Given the description of an element on the screen output the (x, y) to click on. 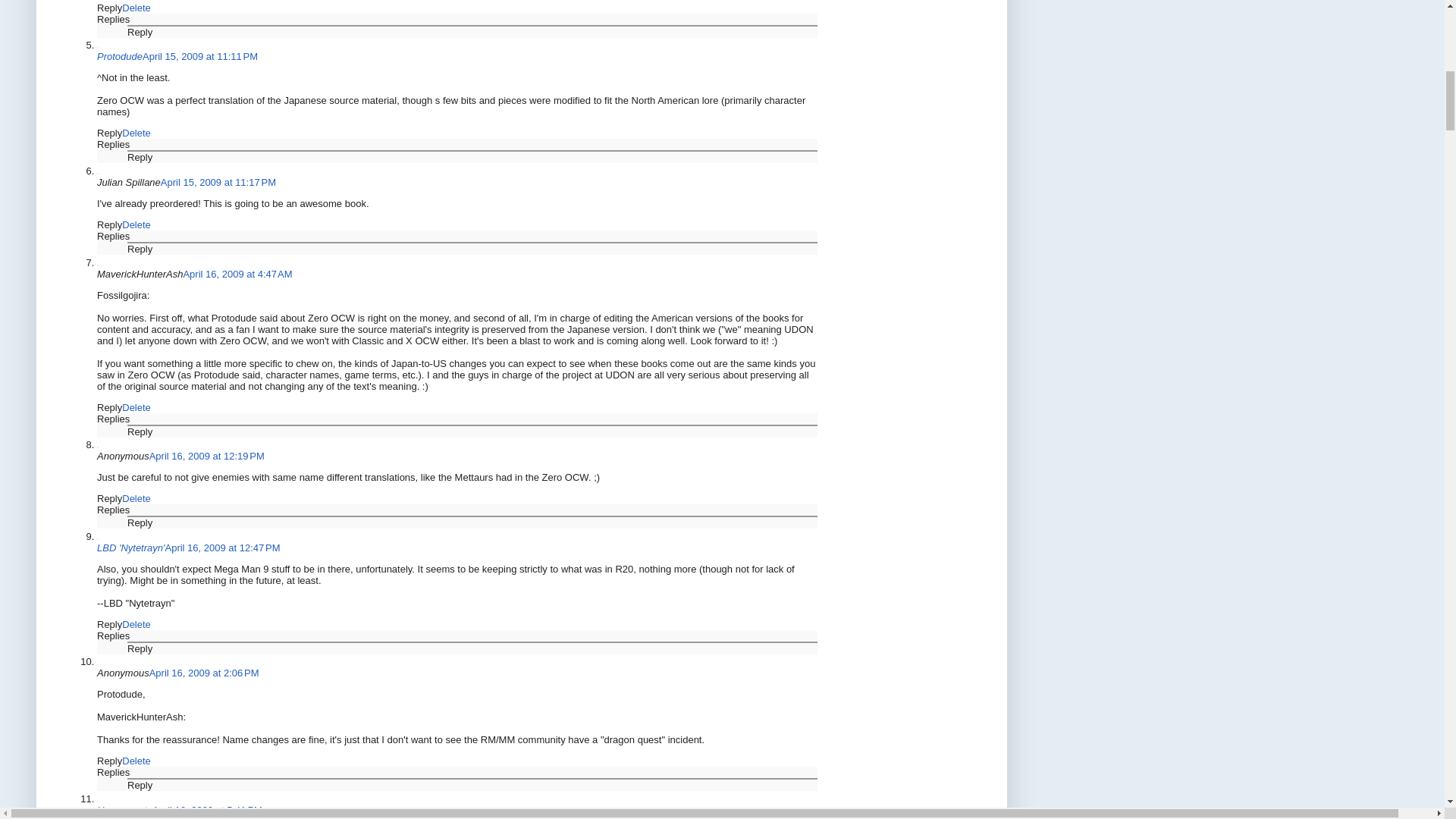
Delete (136, 7)
Replies (113, 143)
Reply (109, 7)
Replies (113, 19)
Reply (140, 31)
Protodude (119, 56)
Delete (136, 132)
Reply (109, 132)
